Given the description of an element on the screen output the (x, y) to click on. 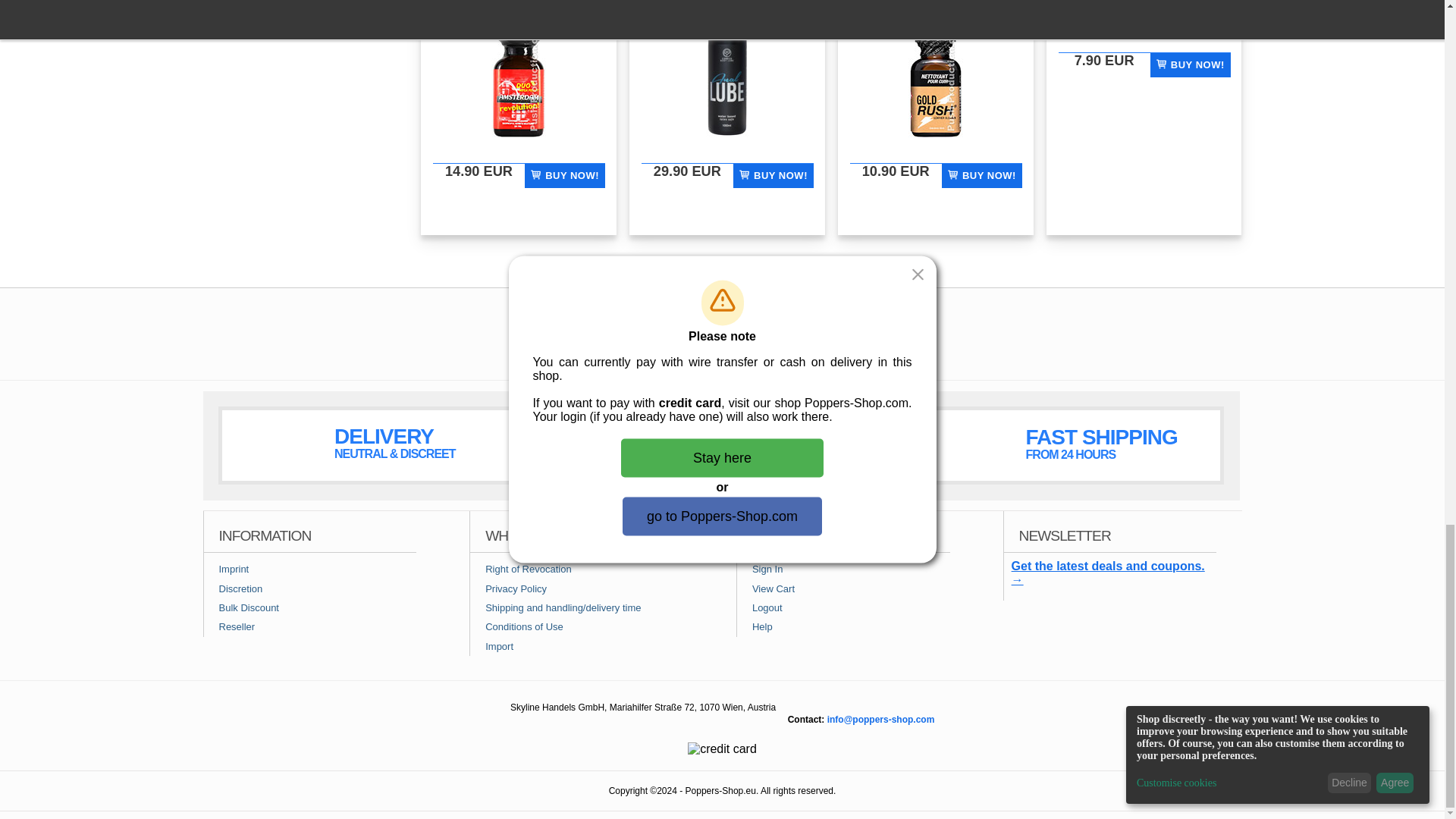
credit card (722, 748)
Twitter (784, 341)
Facebook (660, 341)
